Given the description of an element on the screen output the (x, y) to click on. 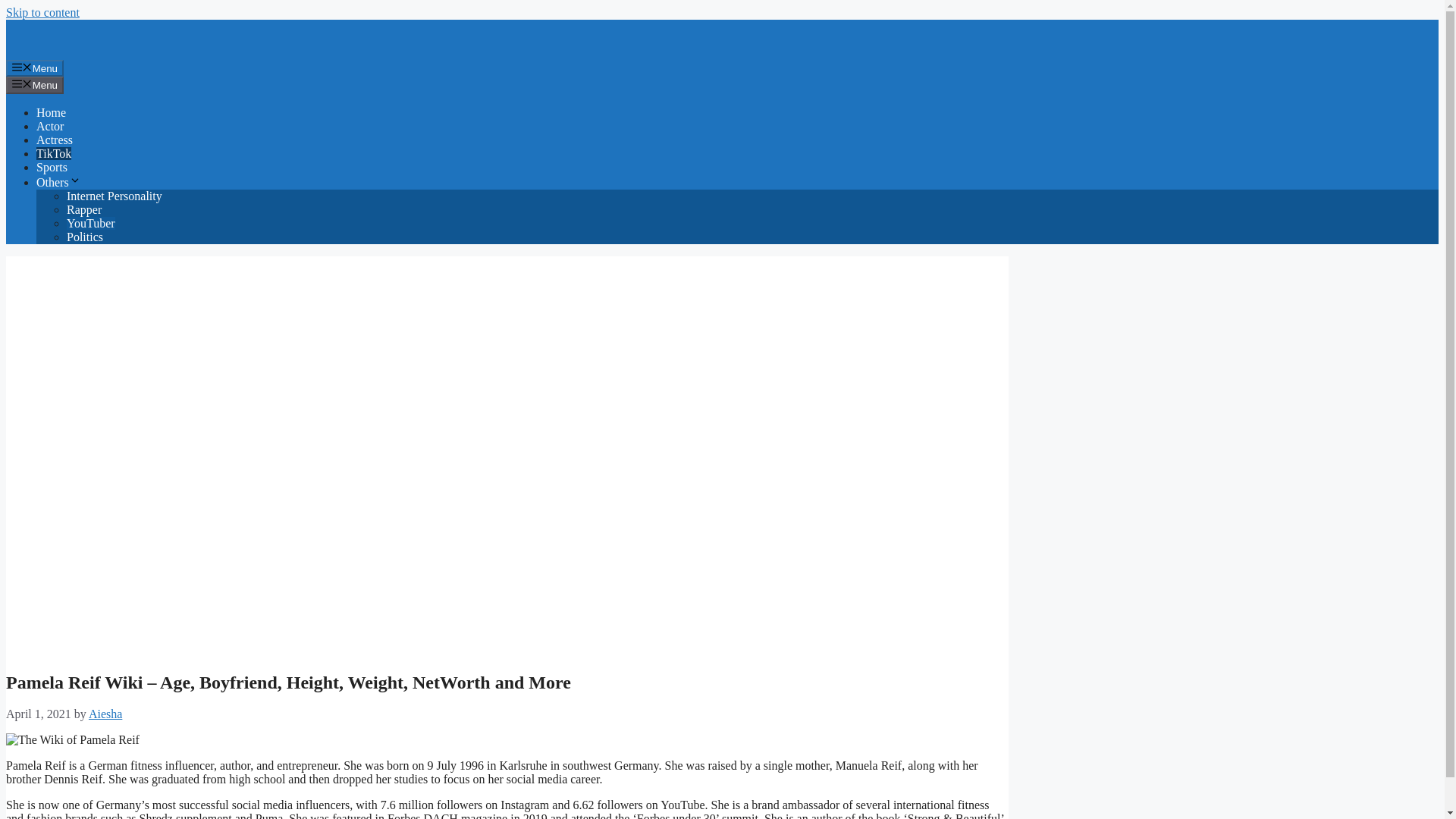
Menu (34, 84)
Others (58, 182)
Home (50, 112)
Rapper (83, 209)
Menu (34, 67)
Actress (54, 139)
Actor (50, 125)
Politics (84, 236)
TikTok (53, 153)
Sports (51, 166)
Internet Personality (113, 195)
View all posts by Aiesha (105, 713)
Skip to content (42, 11)
Aiesha (105, 713)
YouTuber (90, 223)
